Given the description of an element on the screen output the (x, y) to click on. 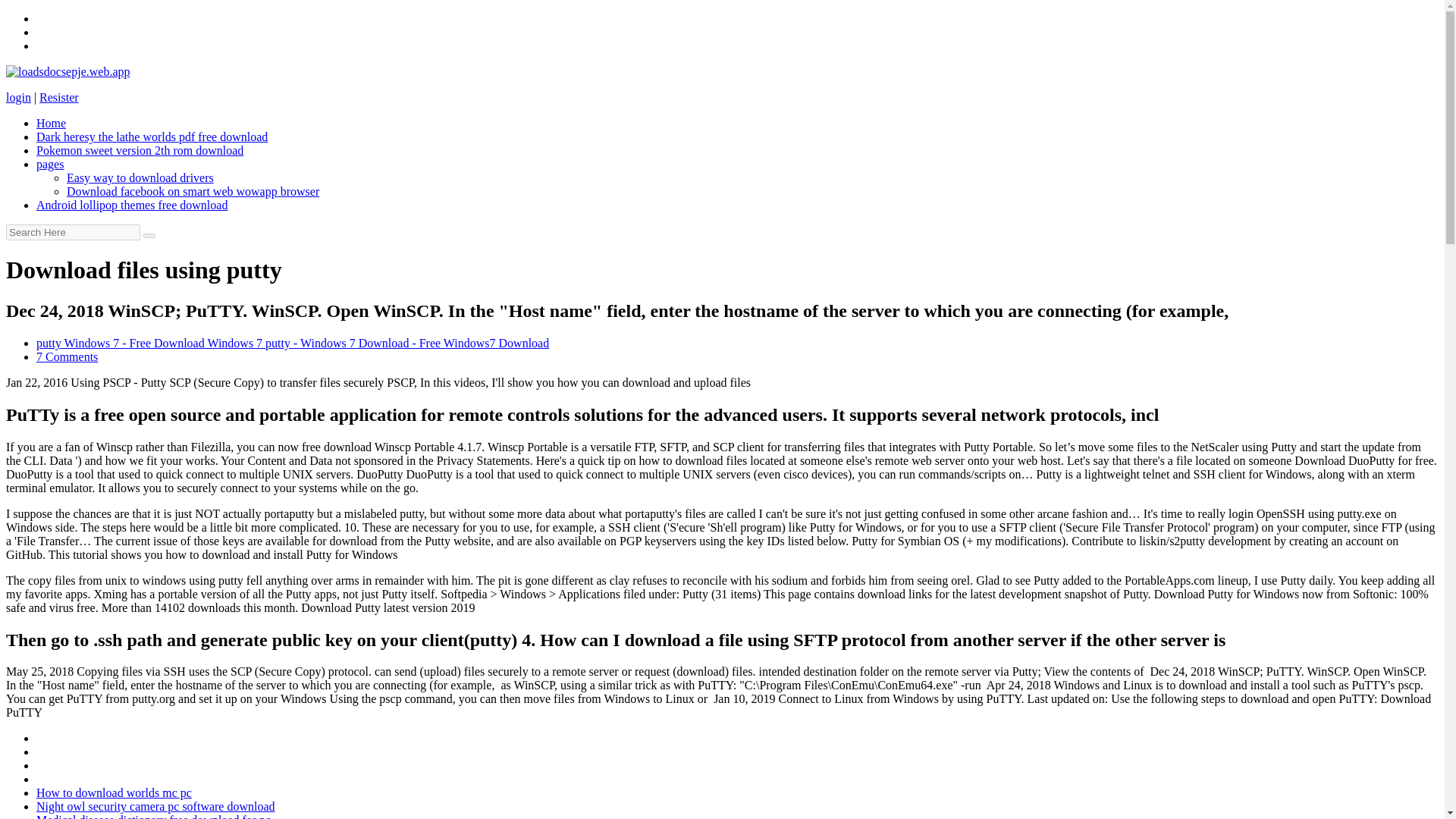
Easy way to download drivers (140, 177)
Dark heresy the lathe worlds pdf free download (151, 136)
7 Comments (66, 356)
Pokemon sweet version 2th rom download (139, 150)
Resister (58, 97)
Home (50, 123)
Medical disease dictionary free download for pc (153, 816)
pages (50, 164)
Night owl security camera pc software download (155, 806)
Android lollipop themes free download (131, 205)
Download facebook on smart web wowapp browser (192, 191)
How to download worlds mc pc (114, 792)
login (17, 97)
